Given the description of an element on the screen output the (x, y) to click on. 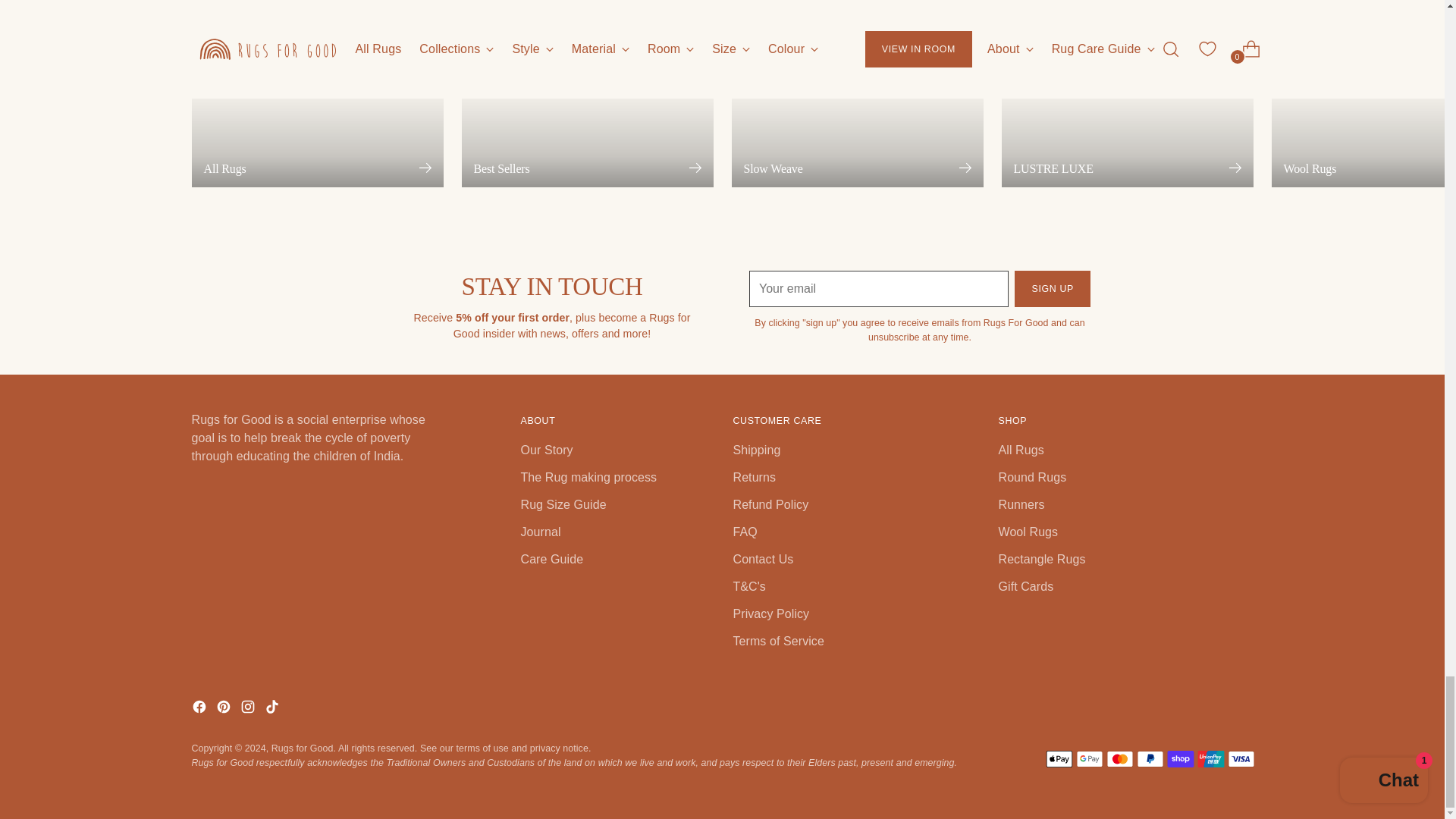
Rugs for Good on Pinterest (223, 709)
Rugs for Good on Tiktok (272, 709)
